Given the description of an element on the screen output the (x, y) to click on. 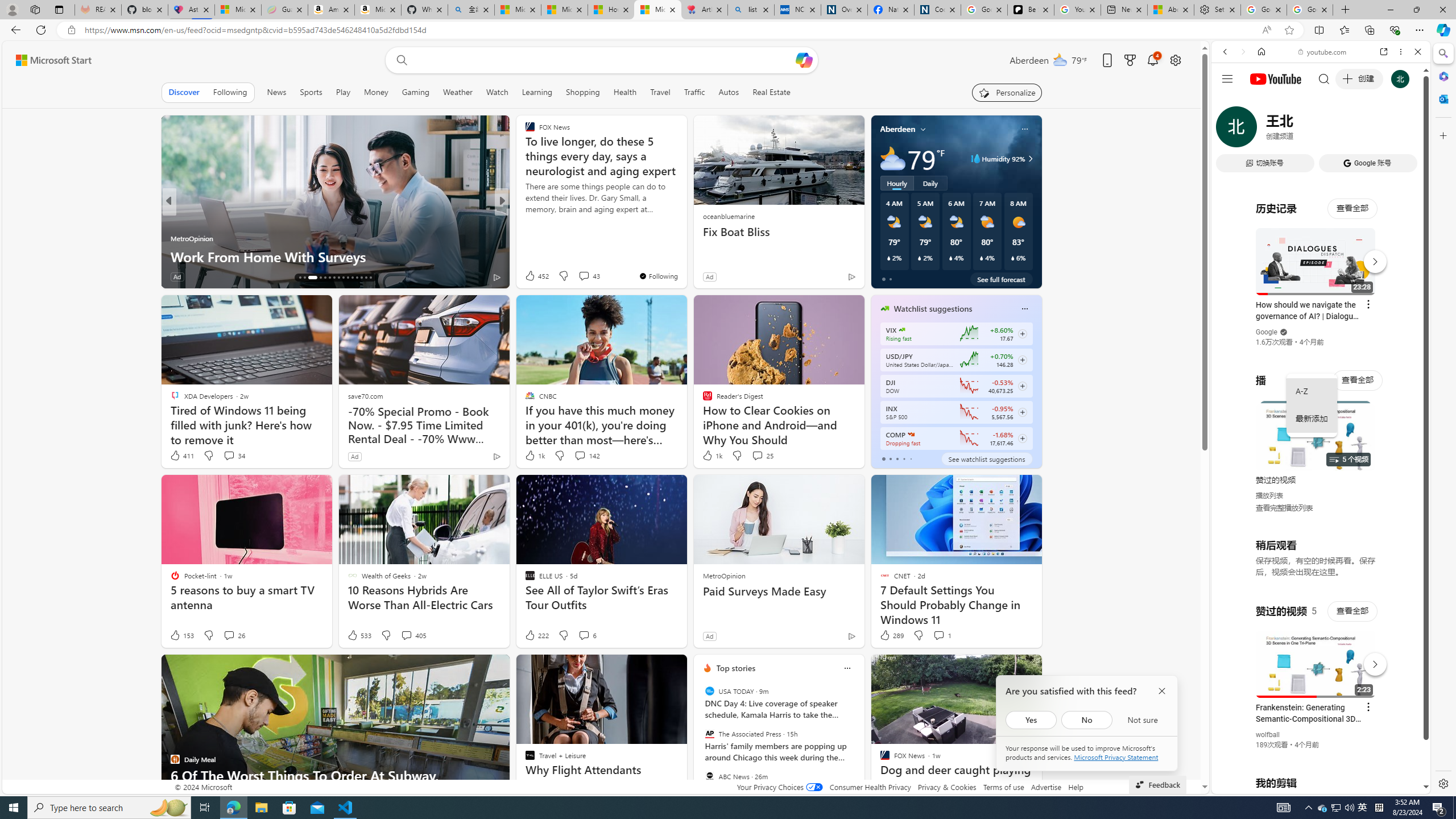
Actions for this site (1371, 661)
No (1086, 719)
#you (1320, 253)
View comments 142 Comment (579, 455)
Weather (457, 92)
Click to scroll right (1407, 456)
MetroOpinion (723, 574)
Trailer #2 [HD] (1320, 337)
Start the conversation (576, 276)
Music (1320, 309)
AutomationID: tab-28 (361, 277)
View comments 197 Comment (587, 276)
